Given the description of an element on the screen output the (x, y) to click on. 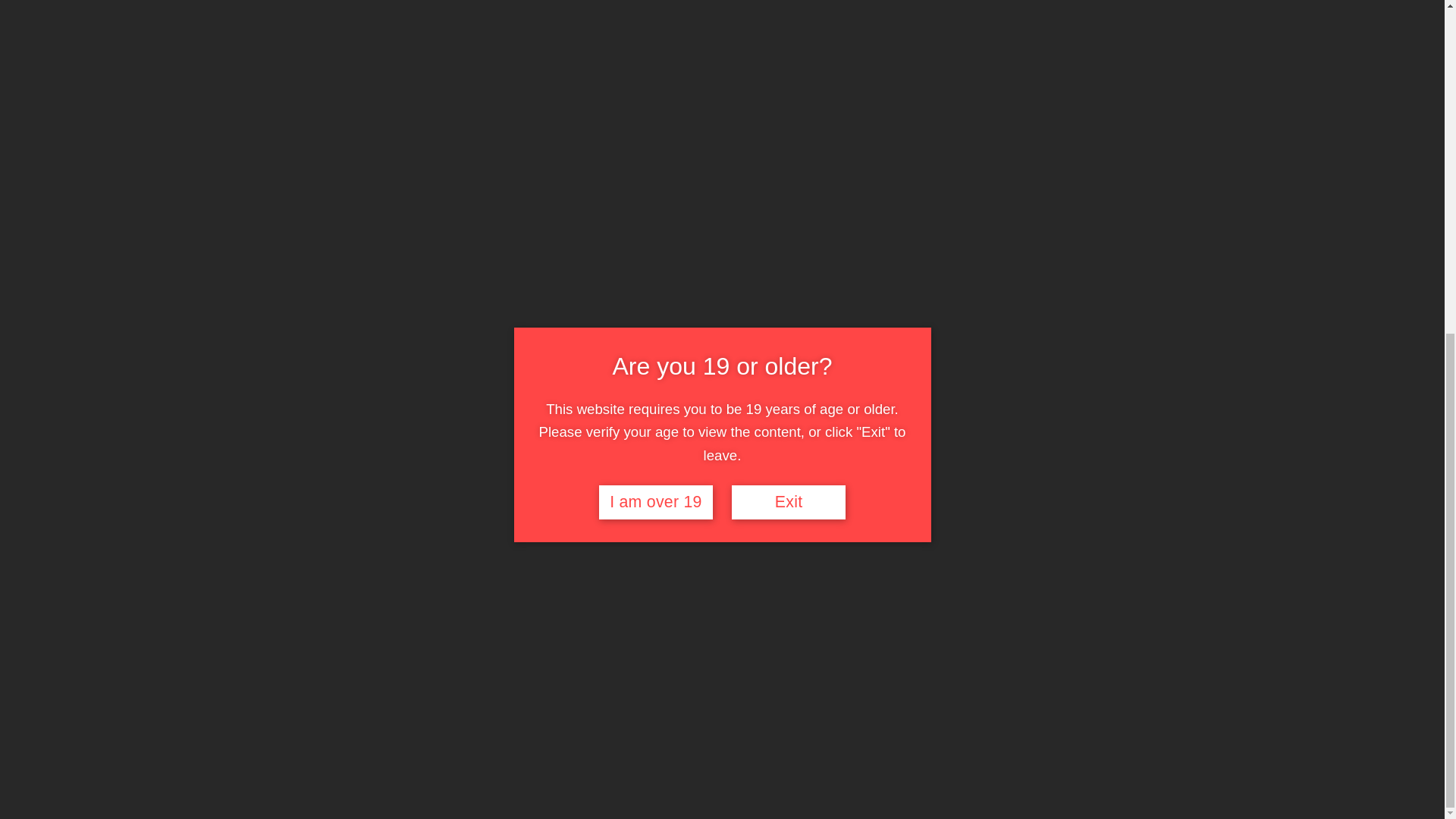
Post Comment (390, 348)
yes (594, 267)
July 2024 (1024, 87)
Post Comment (390, 348)
